Given the description of an element on the screen output the (x, y) to click on. 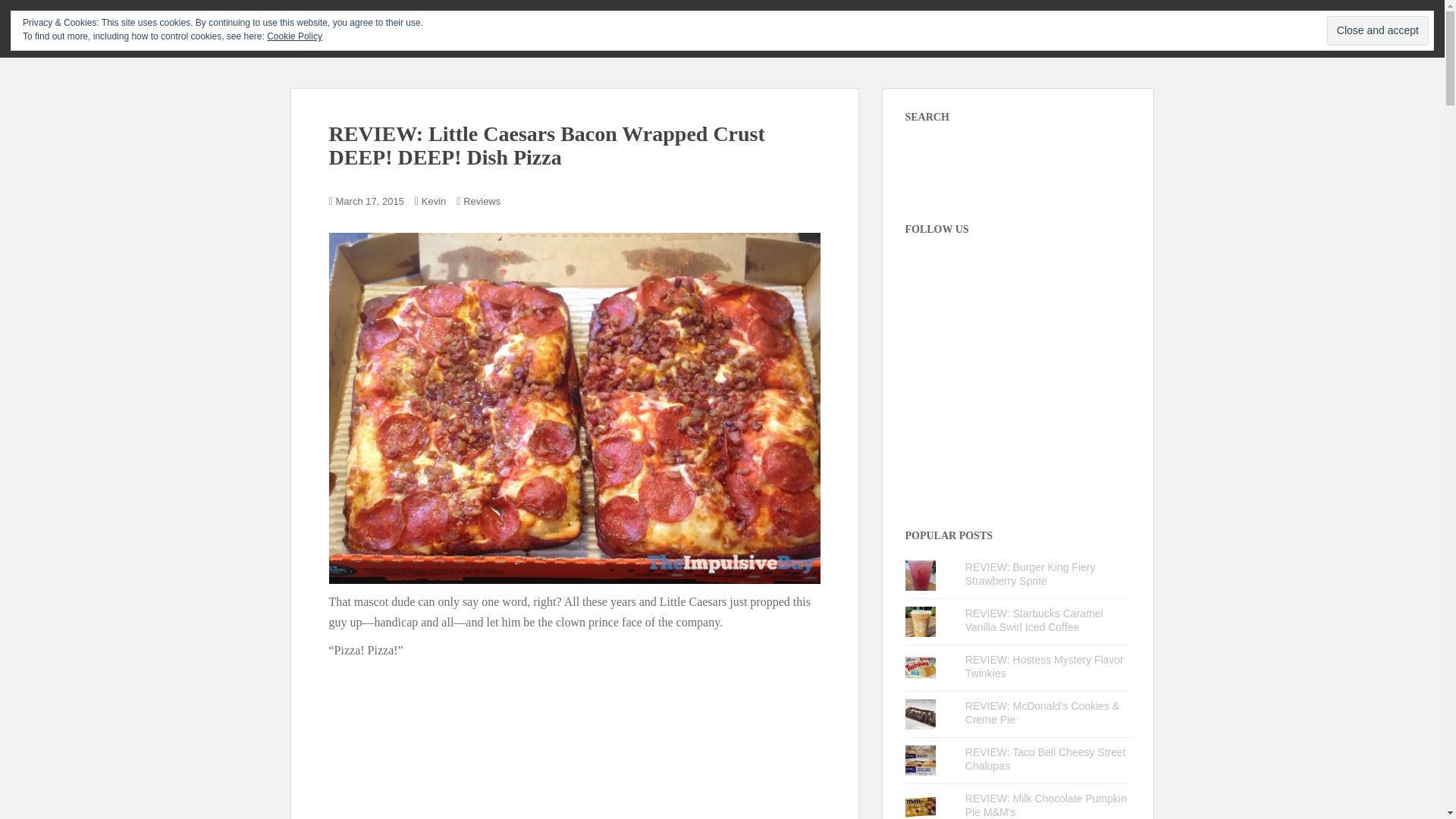
Reviews (481, 201)
ARCHIVES (1050, 26)
SEARCH (1113, 26)
Kevin (434, 201)
Close and accept (1377, 30)
SPOTTED (983, 26)
RECENT REVIEWS (788, 26)
March 17, 2015 (370, 201)
REVIEW: Burger King Fiery Strawberry Sprite (1030, 574)
FAST FOOD REVIEWS (896, 26)
